Given the description of an element on the screen output the (x, y) to click on. 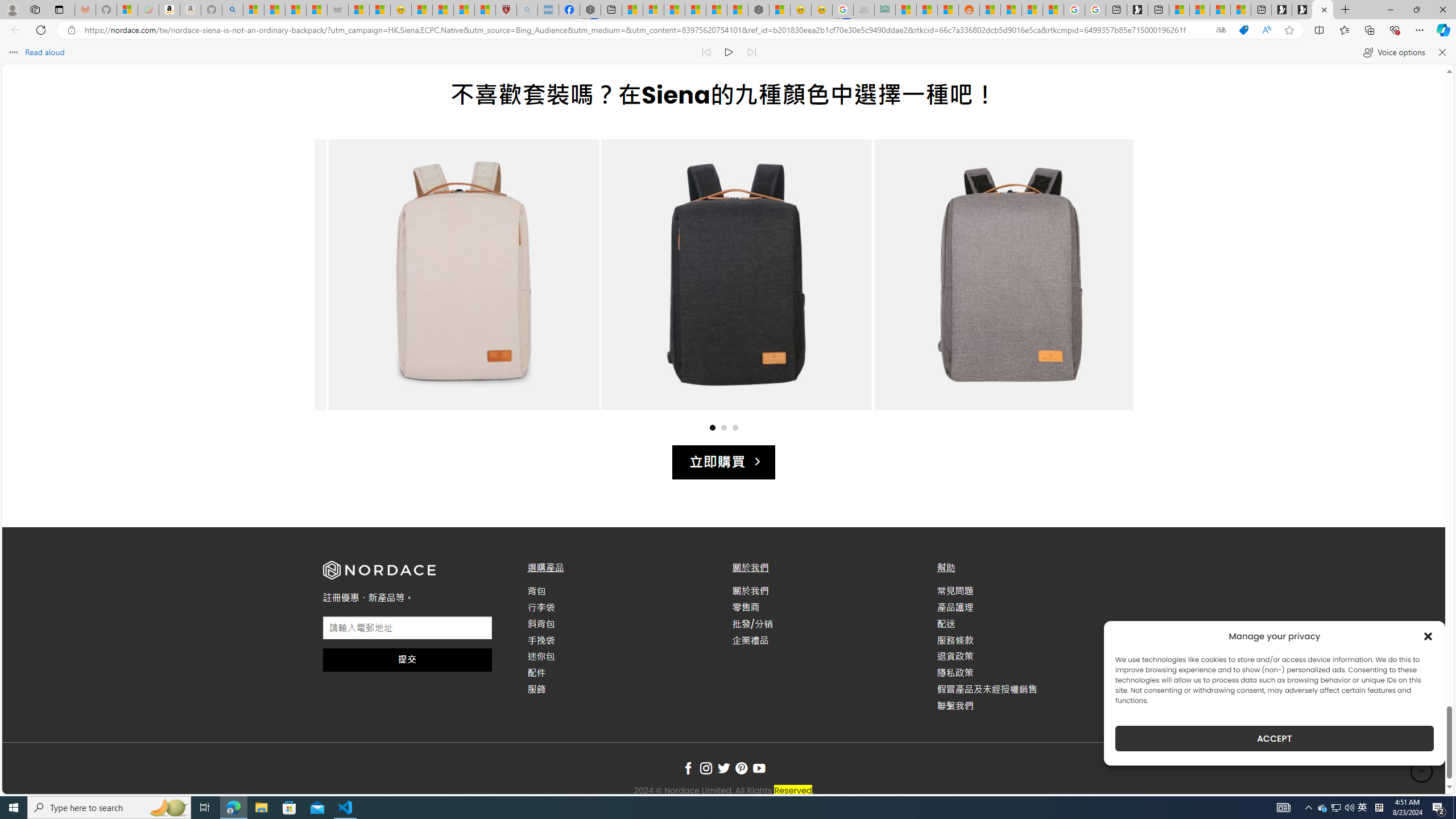
AutomationID: field_4_1 (406, 628)
